Given the description of an element on the screen output the (x, y) to click on. 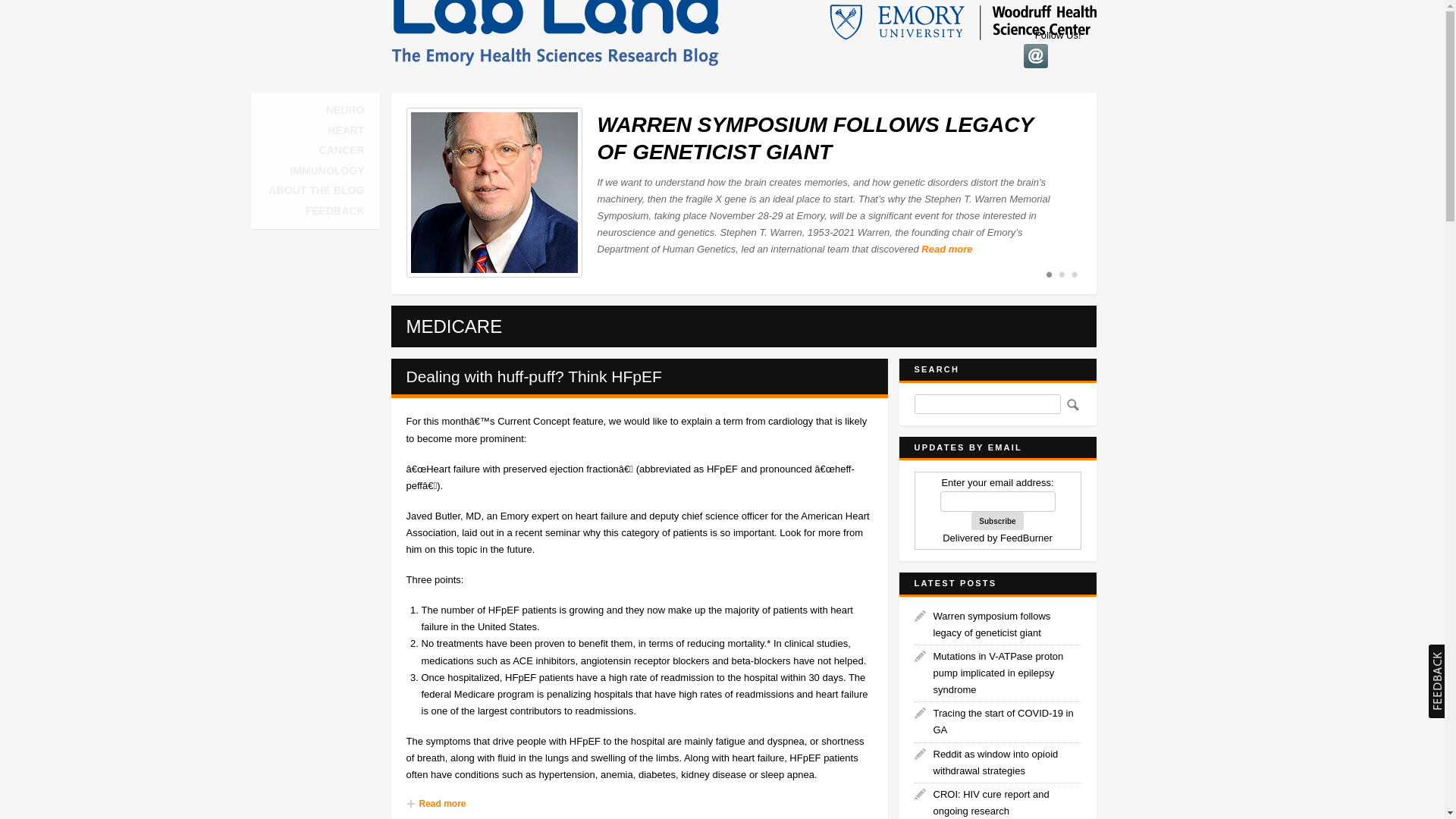
Javed Butler (433, 515)
medicare readmissions (569, 694)
Read more (639, 803)
javed butler emory (433, 515)
growing (586, 609)
heart failure hfpef majority (742, 609)
Subscribe (997, 520)
majority (742, 609)
HEART (345, 130)
penalizing (569, 694)
